Given the description of an element on the screen output the (x, y) to click on. 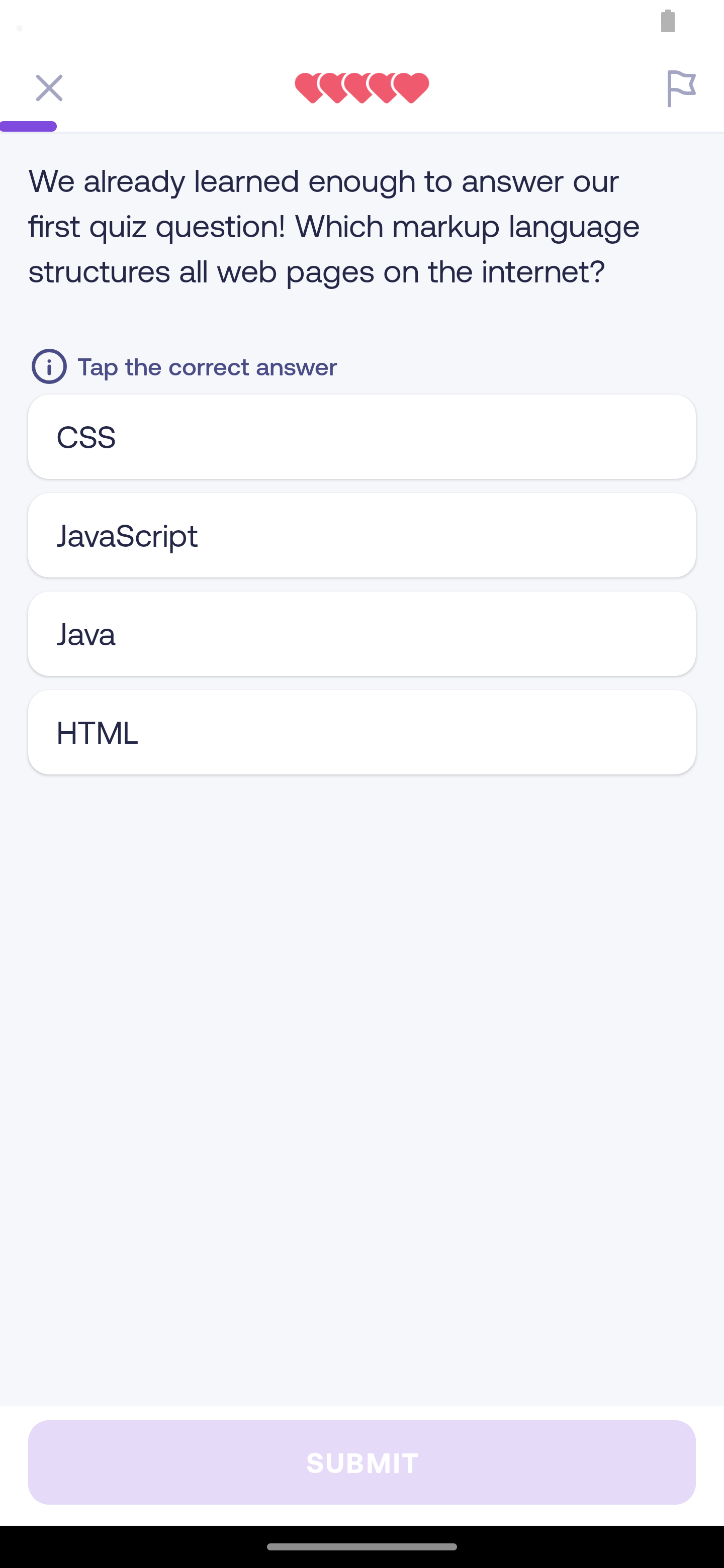
CSS (361, 436)
JavaScript (361, 534)
Java (361, 633)
HTML (361, 731)
SUBMIT (361, 1462)
